Given the description of an element on the screen output the (x, y) to click on. 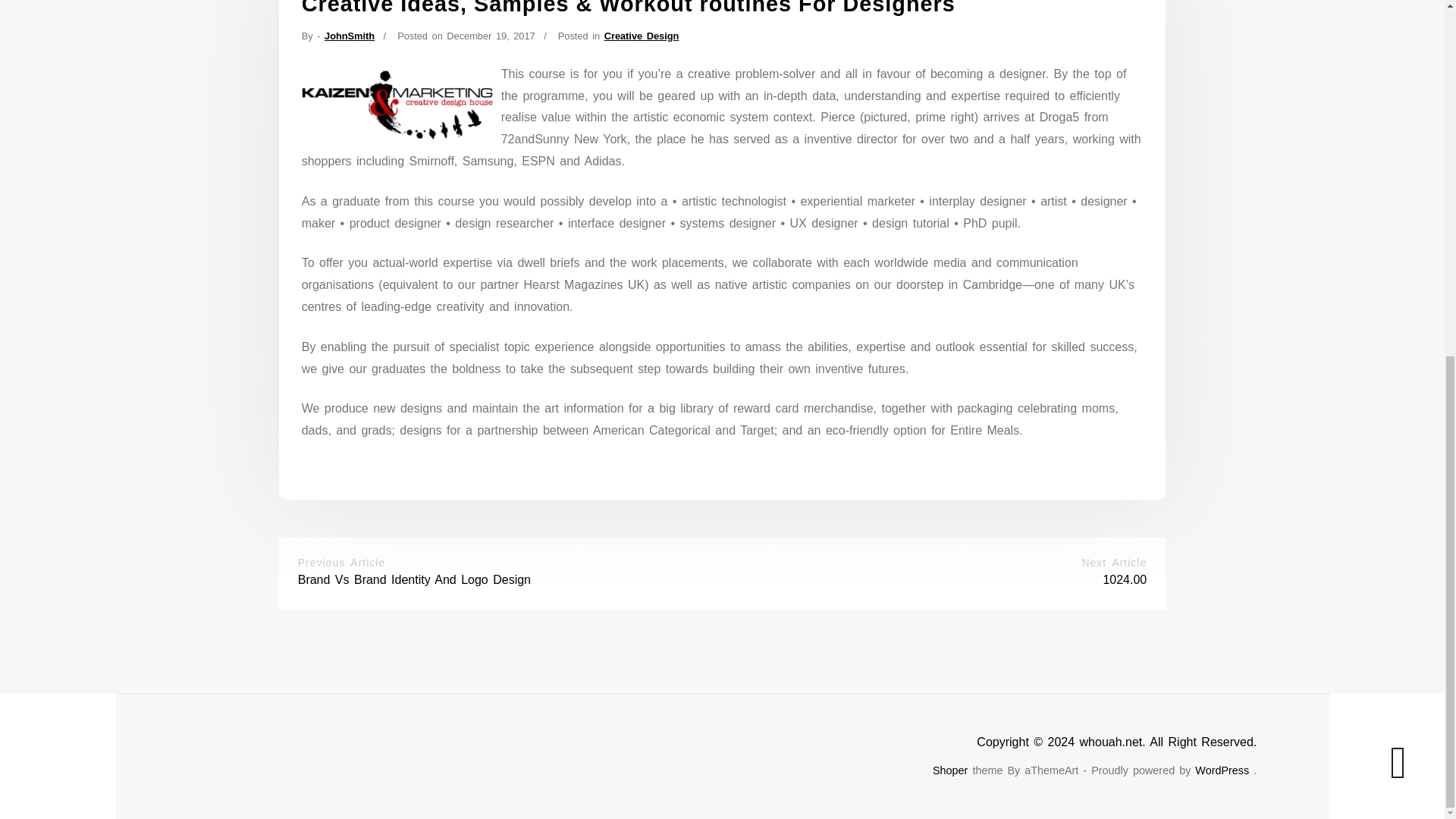
Creative Design (641, 35)
1024.00 (1124, 579)
WordPress (1222, 770)
Brand Vs Brand Identity And Logo Design (414, 579)
JohnSmith (349, 35)
Shoper (950, 770)
